Given the description of an element on the screen output the (x, y) to click on. 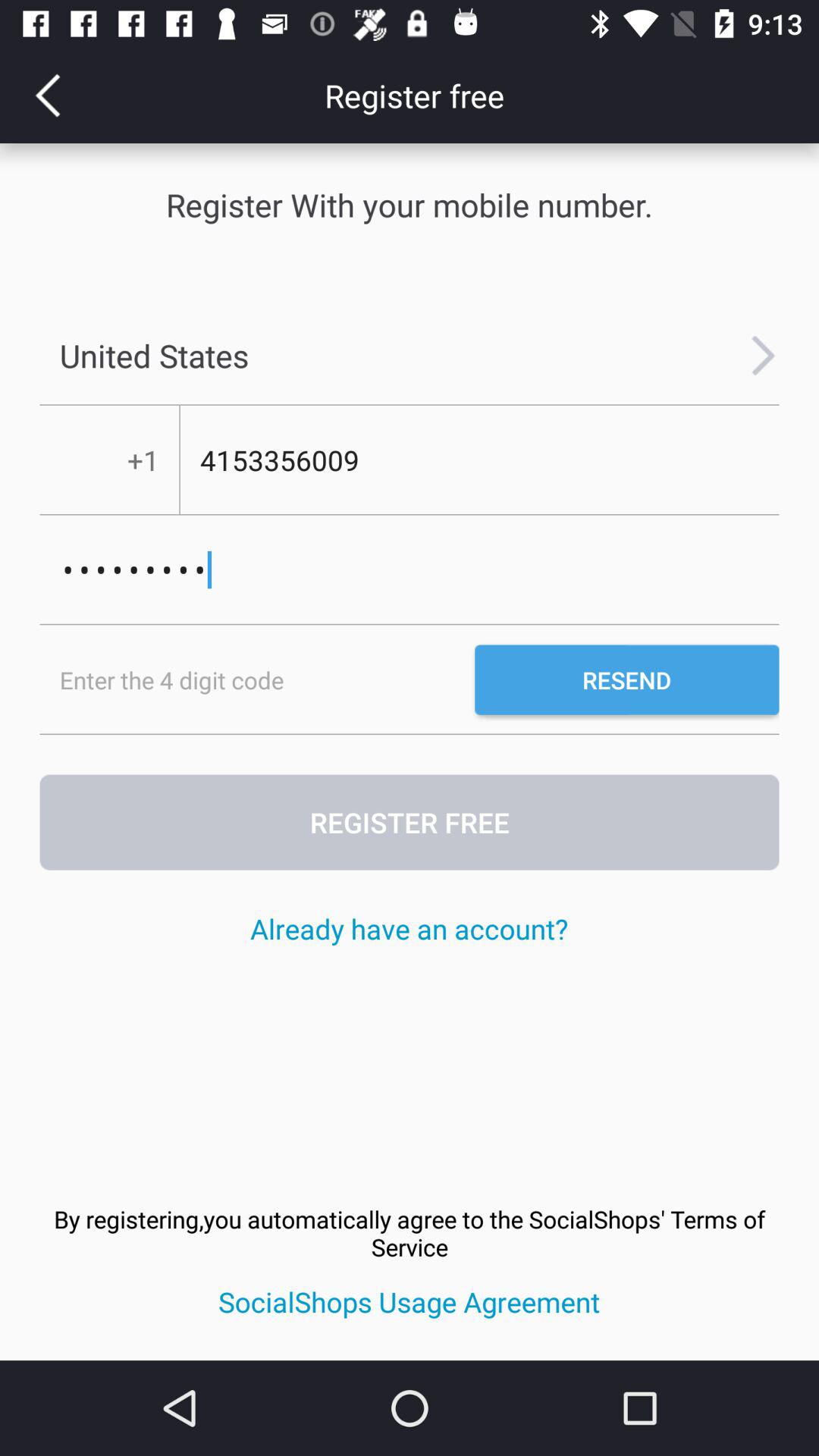
pin code (256, 679)
